Given the description of an element on the screen output the (x, y) to click on. 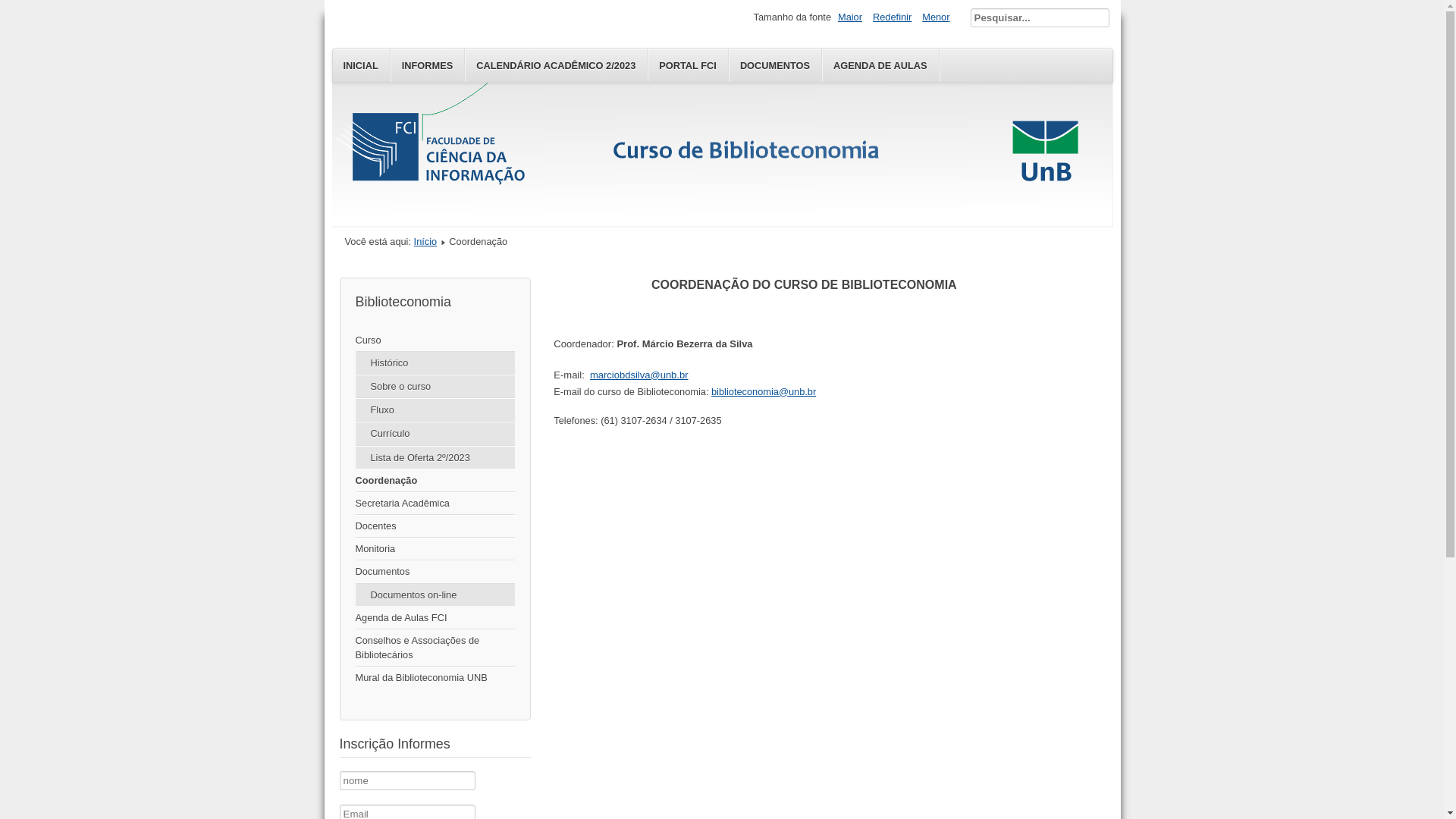
biblioteconomia@unb.br Element type: text (763, 391)
INFORMES Element type: text (427, 65)
Fluxo Element type: text (434, 409)
Menor Element type: text (935, 16)
Mural da Biblioteconomia UNB Element type: text (434, 677)
Curso Element type: text (434, 340)
DOCUMENTOS Element type: text (775, 65)
Maior Element type: text (850, 16)
Documentos Element type: text (434, 571)
Documentos on-line Element type: text (434, 594)
INICIAL Element type: text (361, 65)
Redefinir Element type: text (892, 16)
Docentes Element type: text (434, 525)
marciobdsilva@unb.br Element type: text (638, 374)
PORTAL FCI Element type: text (687, 65)
Agenda de Aulas FCI Element type: text (434, 617)
Monitoria Element type: text (434, 548)
Sobre o curso Element type: text (434, 386)
AGENDA DE AULAS Element type: text (880, 65)
